Given the description of an element on the screen output the (x, y) to click on. 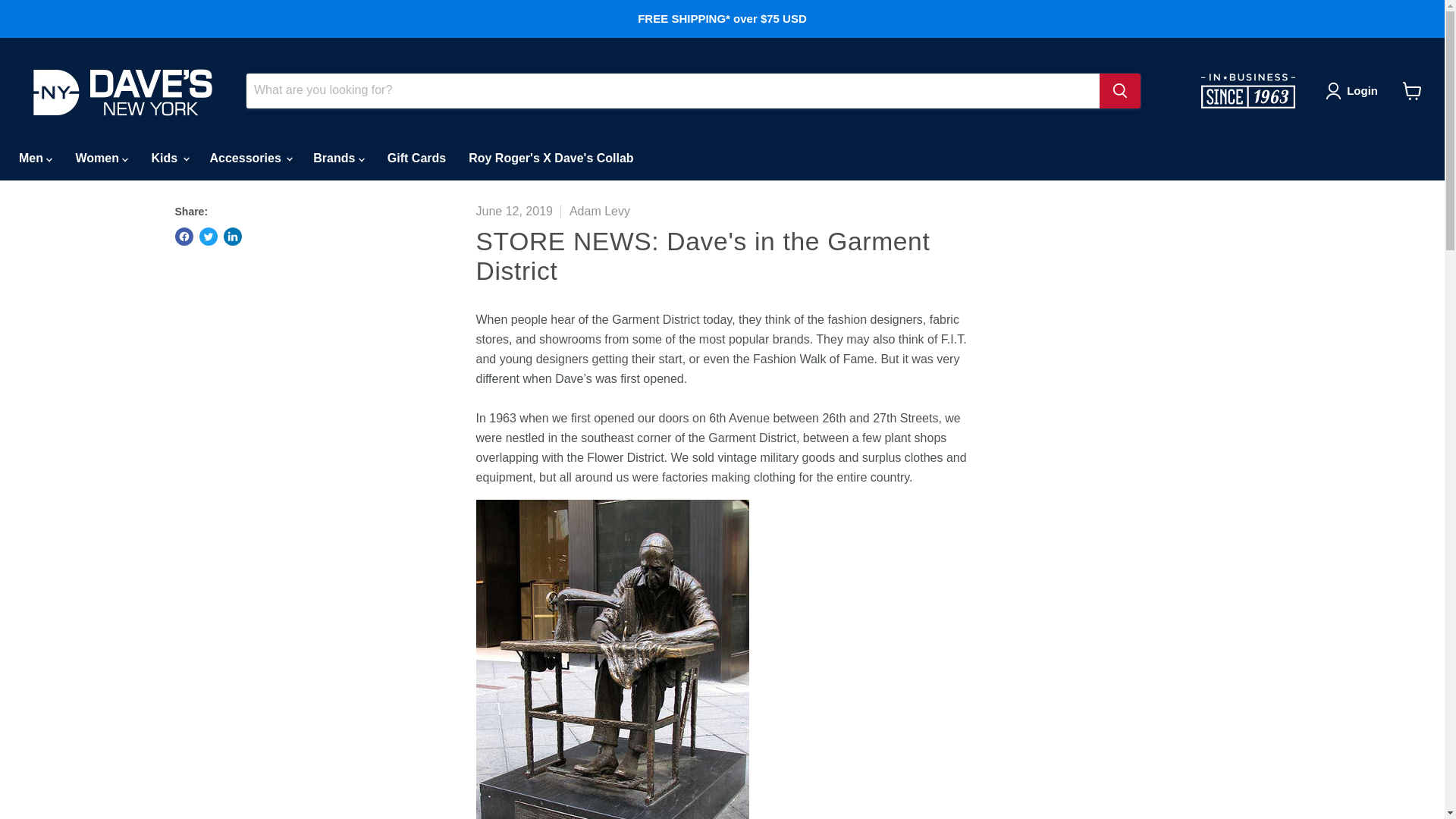
View cart (1411, 90)
Login (1354, 90)
